Given the description of an element on the screen output the (x, y) to click on. 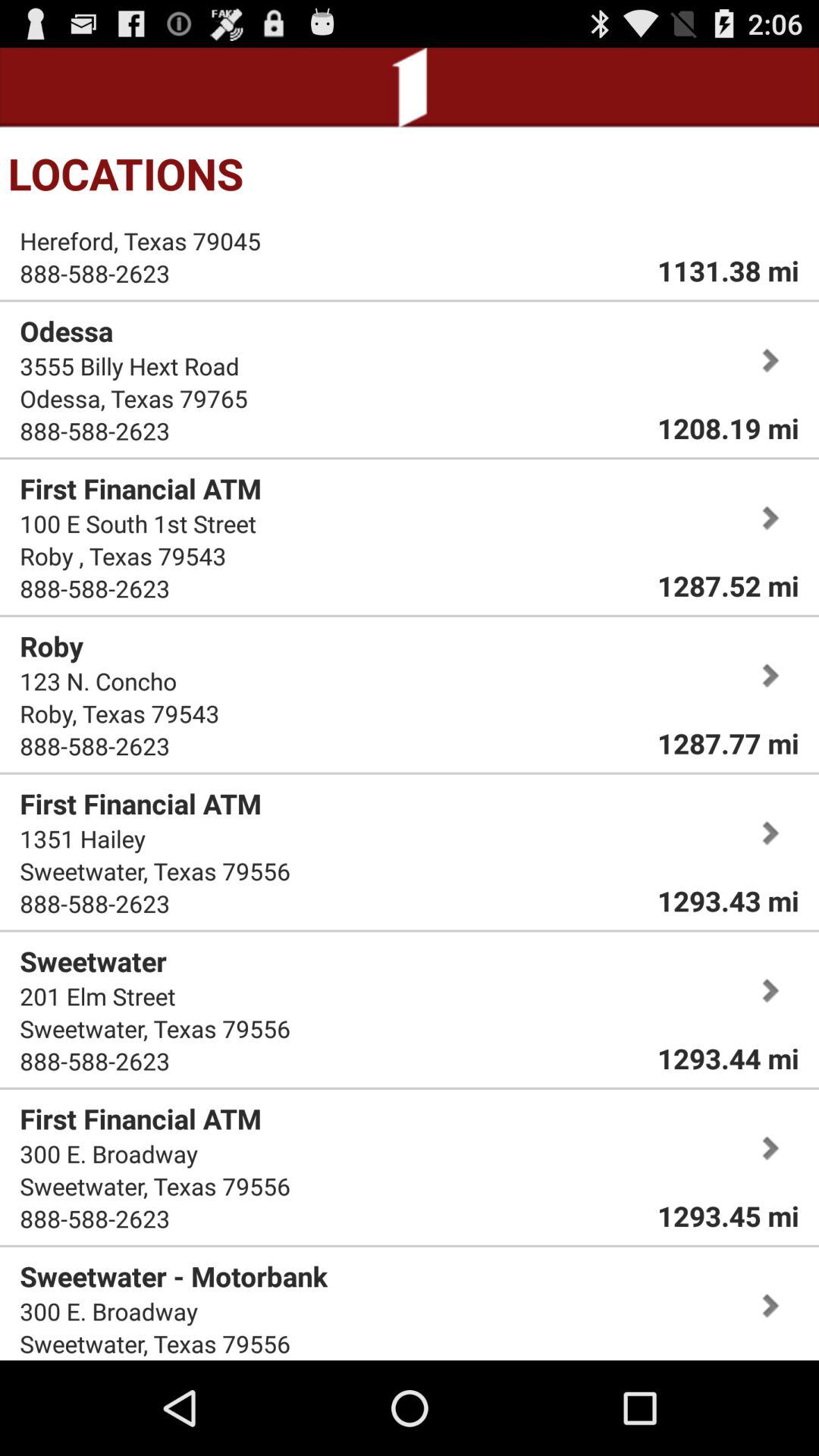
open item next to the 1131.38 mi icon (140, 240)
